Given the description of an element on the screen output the (x, y) to click on. 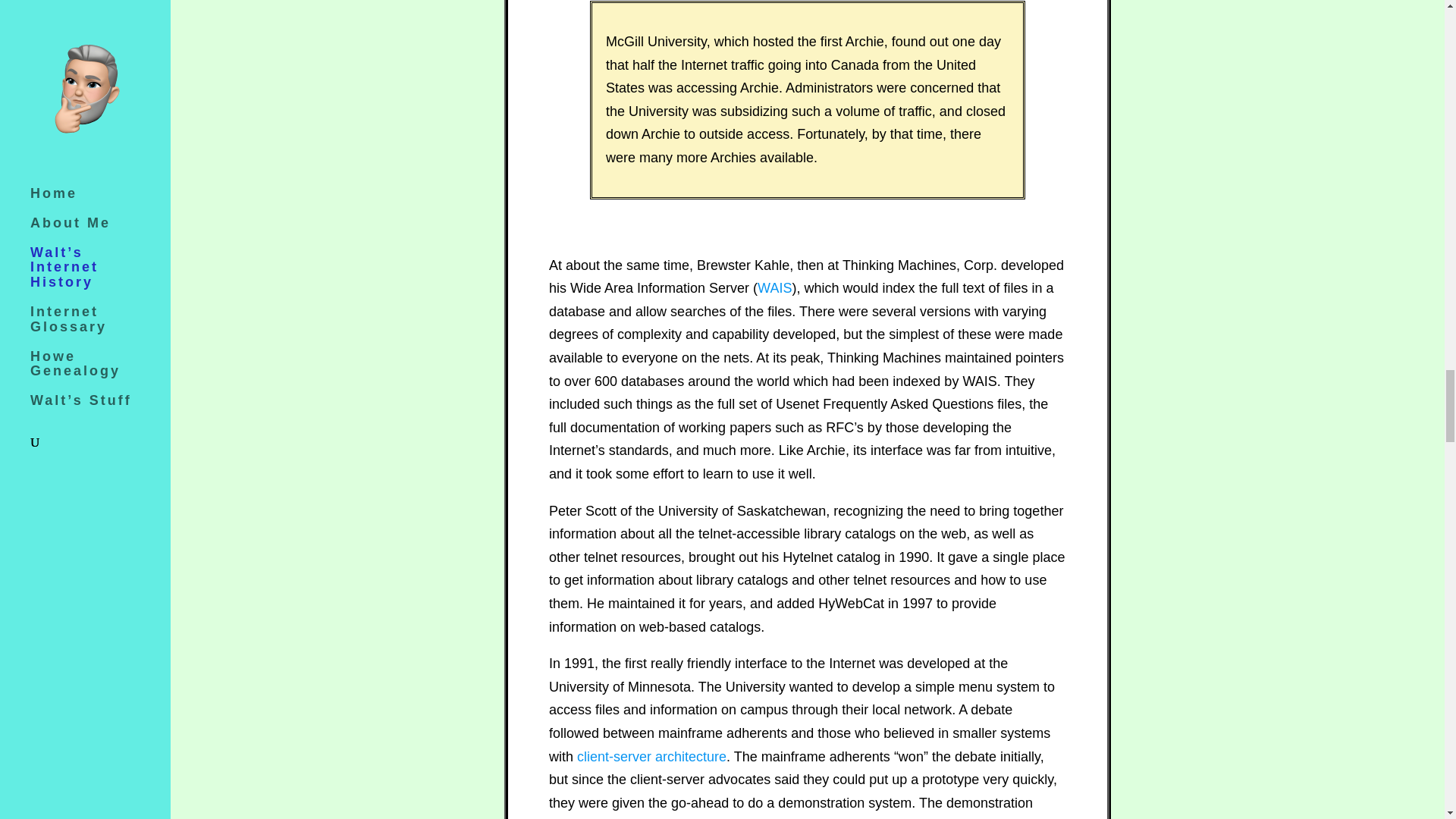
gopher (696, 818)
WAIS (774, 287)
client-server architecture (651, 756)
